Given the description of an element on the screen output the (x, y) to click on. 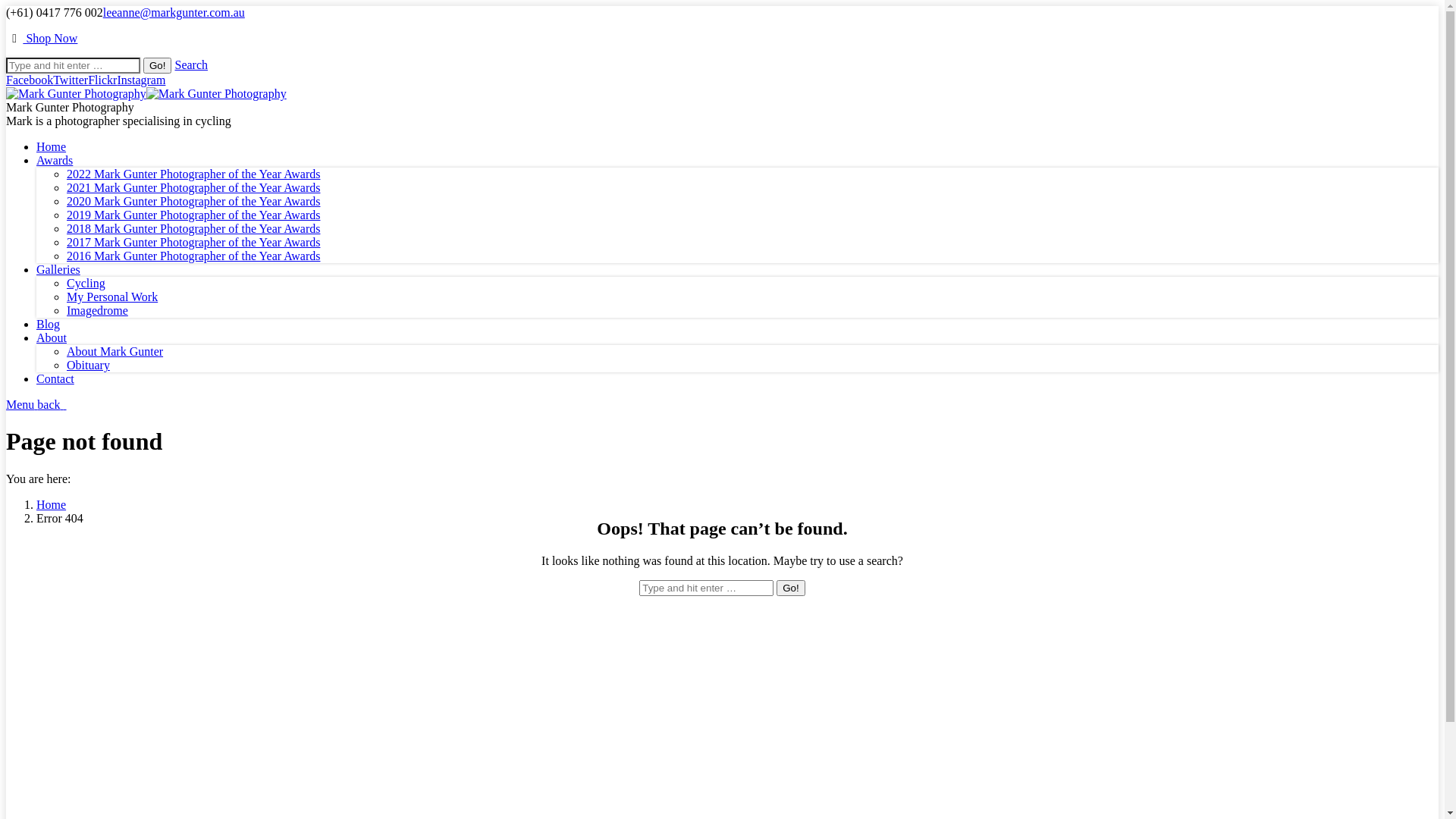
2021 Mark Gunter Photographer of the Year Awards Element type: text (193, 187)
Menu back   Element type: text (36, 404)
Home Element type: text (50, 146)
2016 Mark Gunter Photographer of the Year Awards Element type: text (193, 255)
Imagedrome Element type: text (97, 310)
Galleries Element type: text (58, 269)
Go! Element type: text (157, 65)
Contact Element type: text (55, 378)
leeanne@markgunter.com.au Element type: text (173, 12)
2019 Mark Gunter Photographer of the Year Awards Element type: text (193, 214)
2018 Mark Gunter Photographer of the Year Awards Element type: text (193, 228)
2017 Mark Gunter Photographer of the Year Awards Element type: text (193, 241)
2022 Mark Gunter Photographer of the Year Awards Element type: text (193, 173)
My Personal Work Element type: text (111, 296)
Go! Element type: text (790, 588)
Blog Element type: text (47, 323)
2020 Mark Gunter Photographer of the Year Awards Element type: text (193, 200)
Obituary Element type: text (87, 364)
About Mark Gunter Element type: text (114, 351)
Search Element type: text (190, 64)
Awards Element type: text (54, 159)
Home Element type: text (50, 504)
Cycling Element type: text (85, 282)
Twitter Element type: text (70, 79)
Shop Now Element type: text (49, 37)
About Element type: text (51, 337)
Instagram Element type: text (140, 79)
Facebook Element type: text (29, 79)
Flickr Element type: text (101, 79)
